Given the description of an element on the screen output the (x, y) to click on. 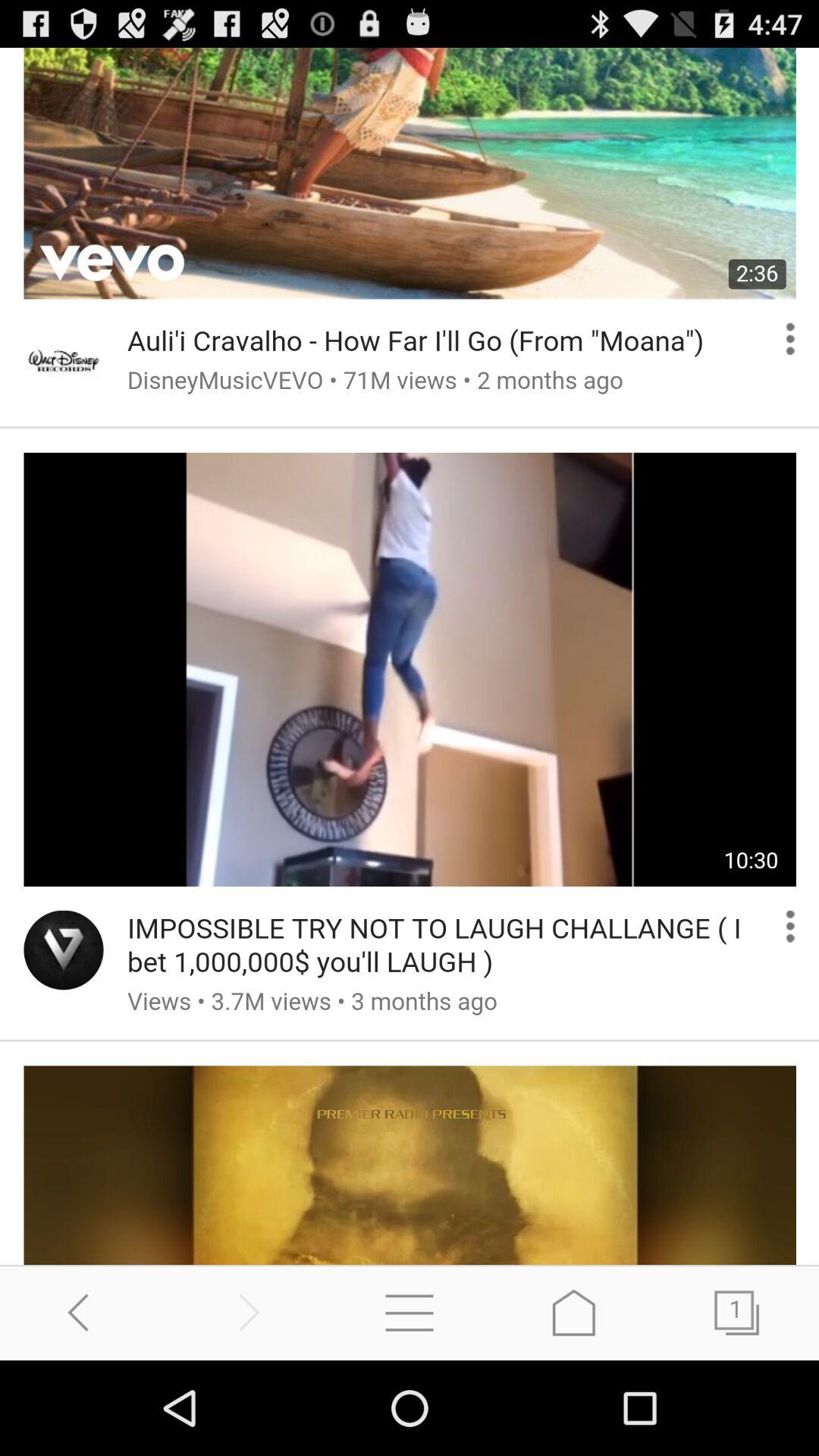
go home (573, 1312)
